Given the description of an element on the screen output the (x, y) to click on. 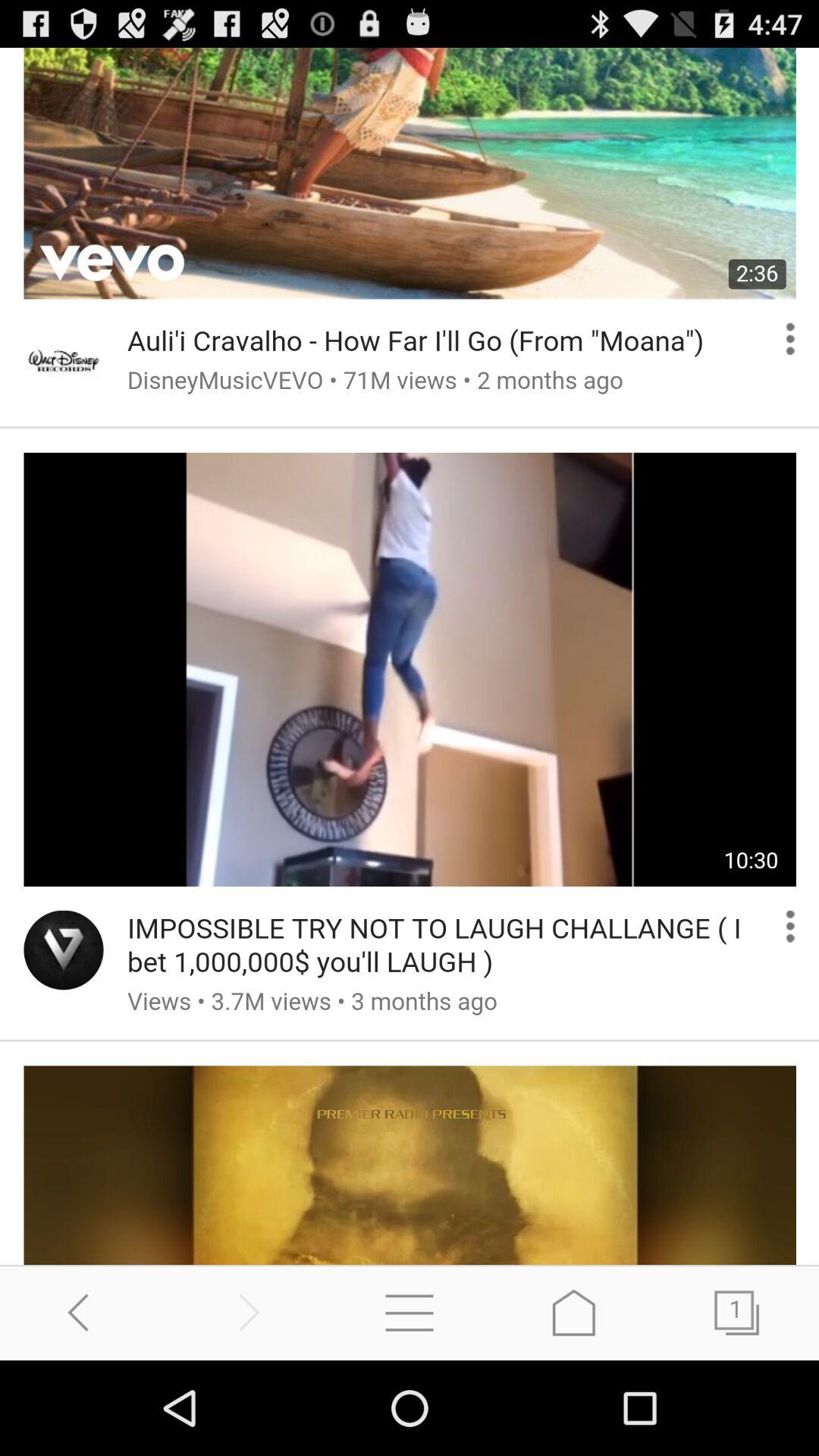
go home (573, 1312)
